Given the description of an element on the screen output the (x, y) to click on. 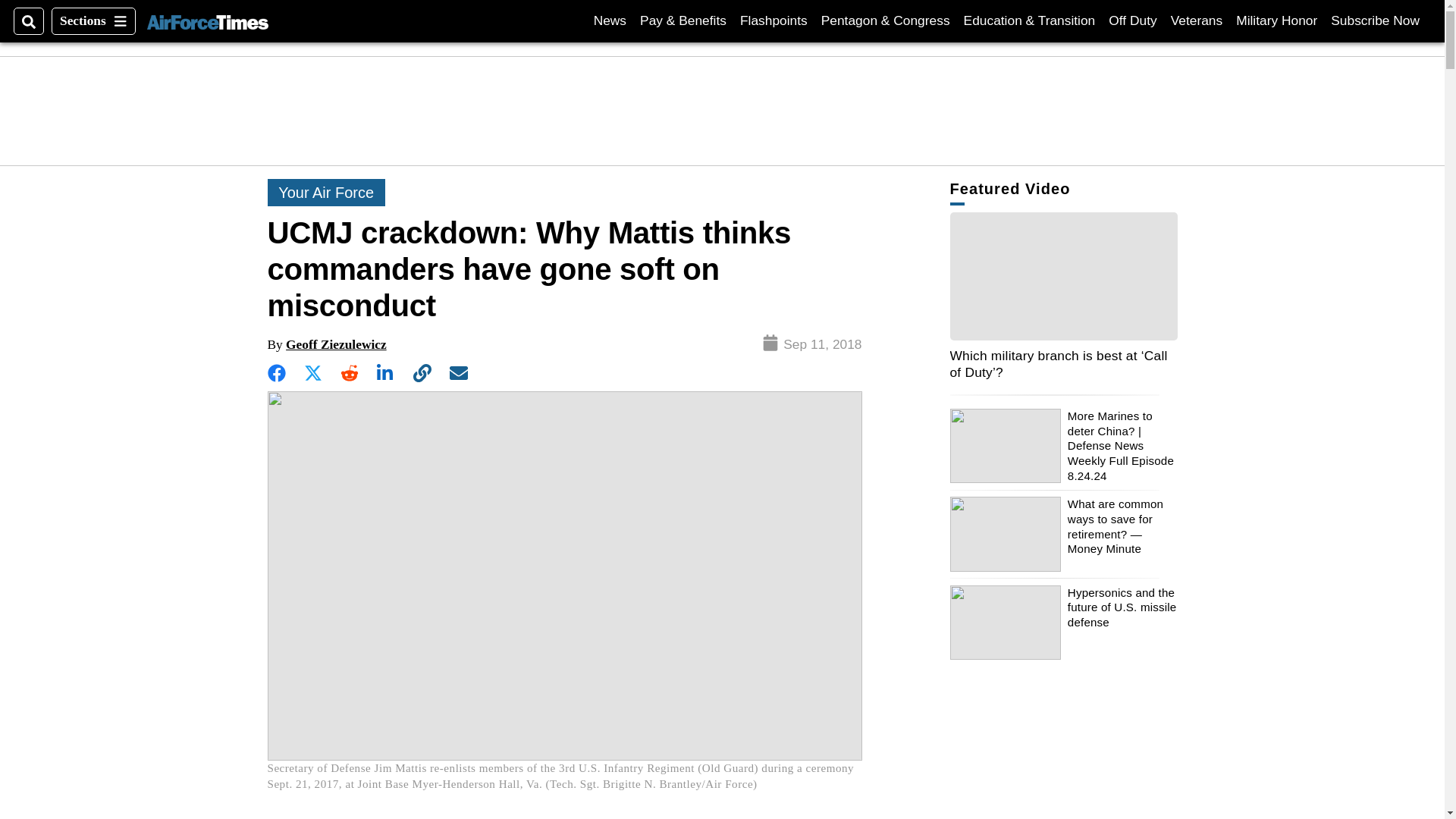
Sections (92, 21)
Military Honor (1276, 20)
Veterans (1196, 20)
Off Duty (1132, 20)
News (610, 20)
Air Force Times Logo (1374, 20)
Flashpoints (207, 20)
